Given the description of an element on the screen output the (x, y) to click on. 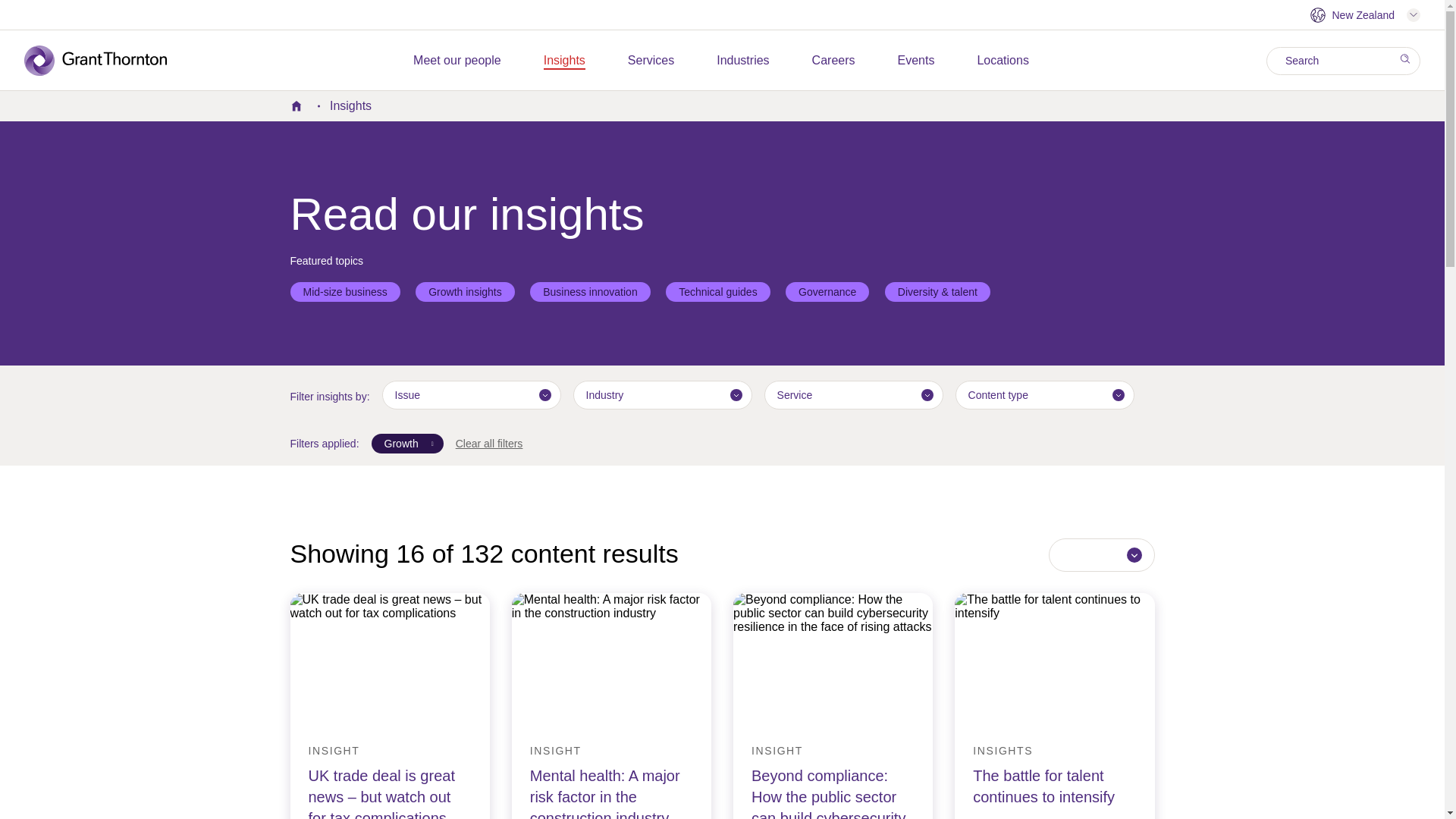
Careers (834, 60)
Insights (564, 60)
Industries (742, 60)
Meet our people (456, 60)
Events (916, 60)
New Zealand (1364, 14)
Services (650, 60)
logo (105, 60)
Locations (1002, 60)
Explore the Grant Thornton network (1364, 14)
